Given the description of an element on the screen output the (x, y) to click on. 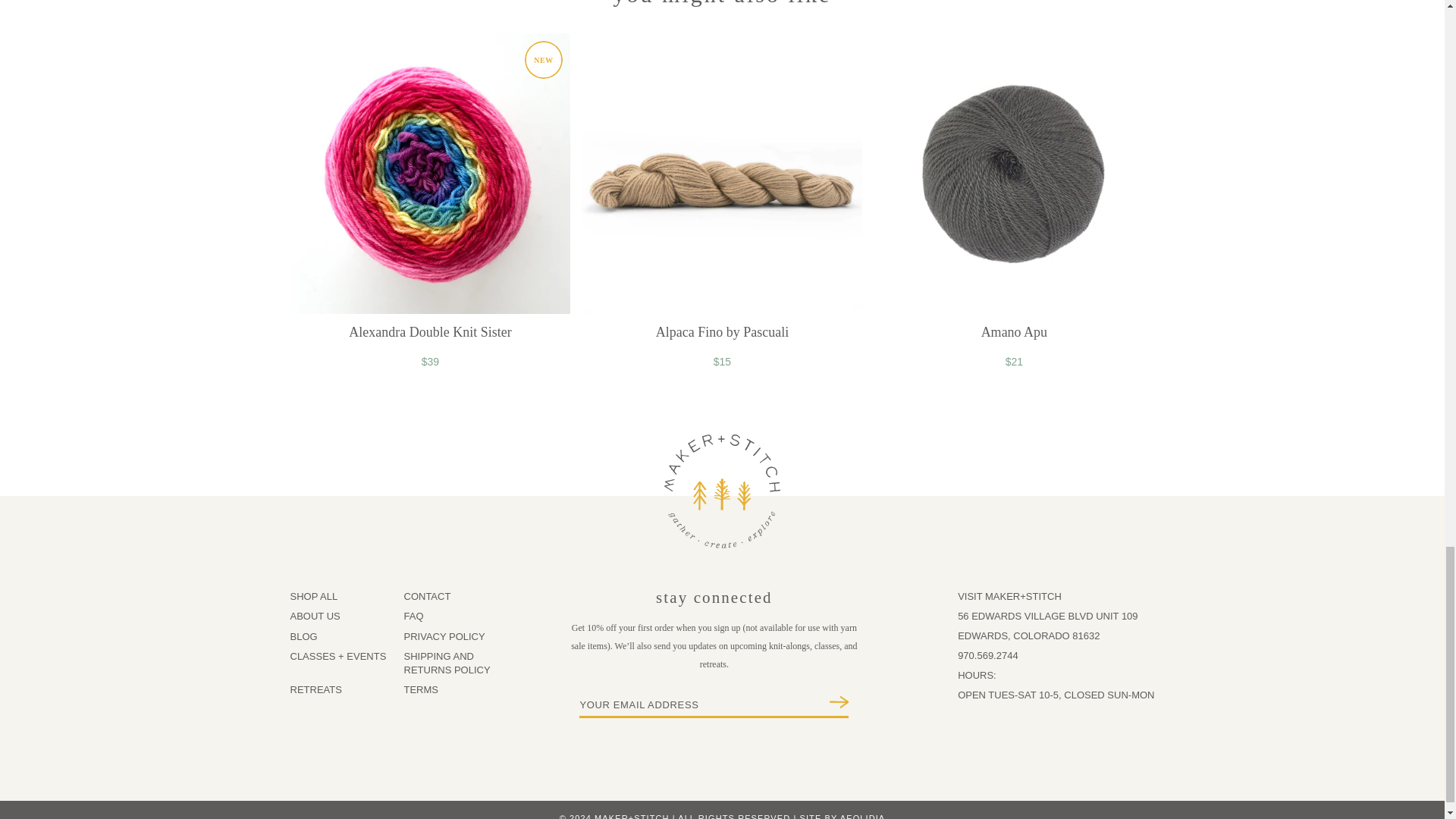
Sign Up (833, 701)
Contact Us (1028, 635)
Contact Us (1047, 615)
